Given the description of an element on the screen output the (x, y) to click on. 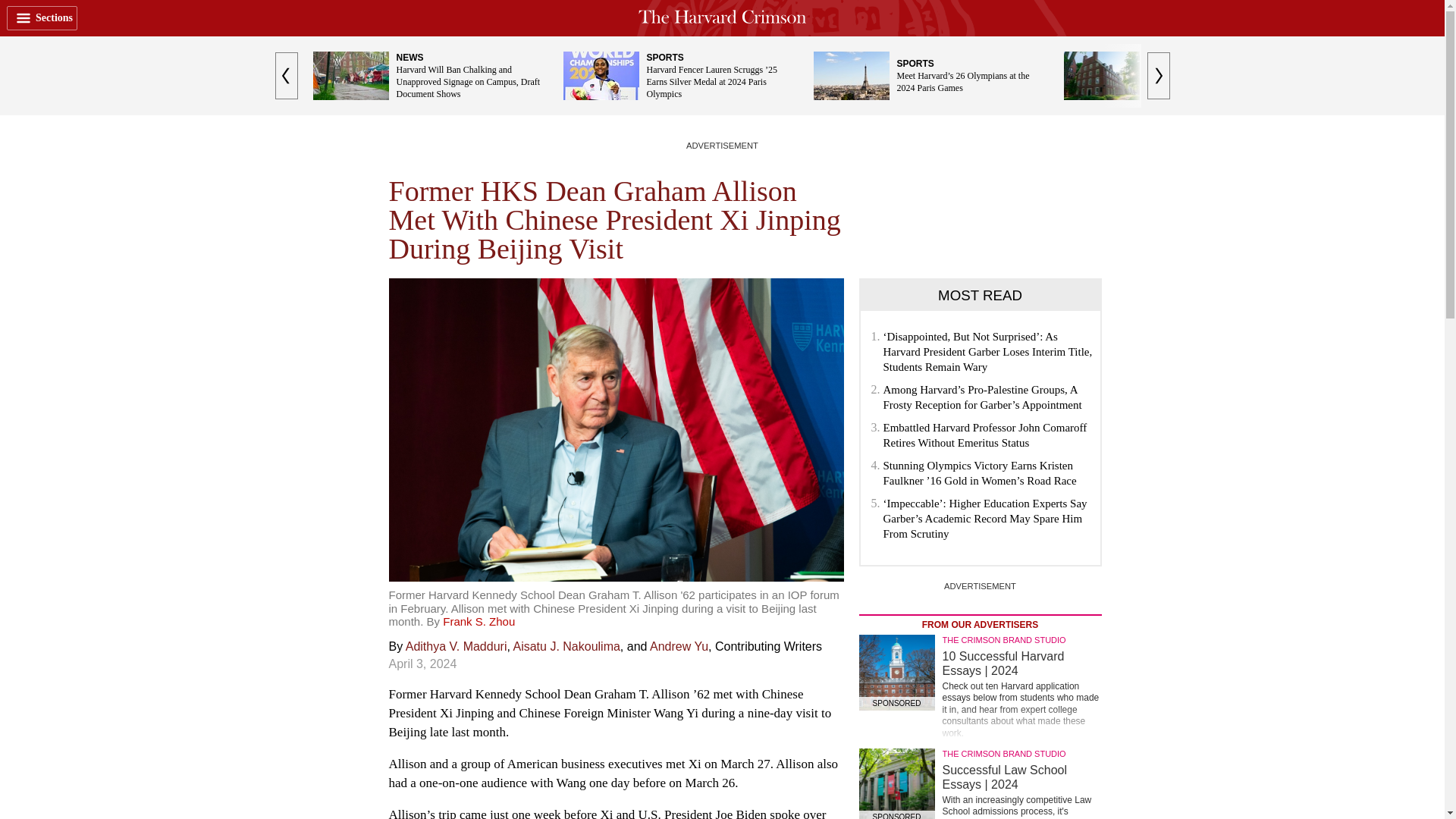
Updated April 03, 2024 at 1:02 pm (422, 663)
Aisatu J. Nakoulima (566, 645)
Frank S. Zhou (478, 621)
Adithya V. Madduri (456, 645)
Andrew Yu (678, 645)
